Given the description of an element on the screen output the (x, y) to click on. 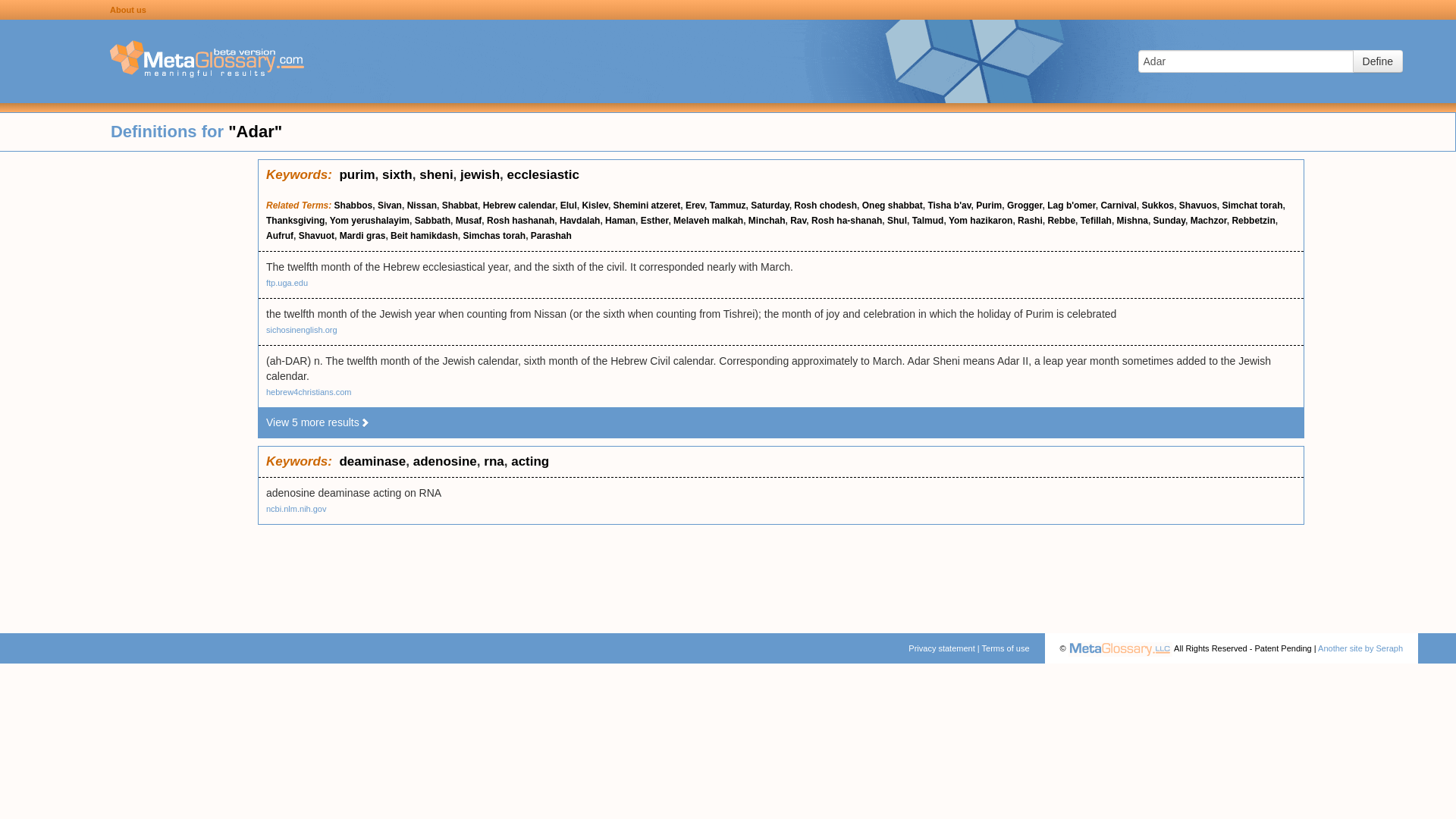
sixth (396, 174)
Carnival (1117, 204)
Oneg shabbat (892, 204)
purim (356, 174)
About us (128, 9)
jewish (479, 174)
Shabbat (459, 204)
Melaveh malkah (707, 220)
Minchah (767, 220)
Rosh chodesh (825, 204)
